Given the description of an element on the screen output the (x, y) to click on. 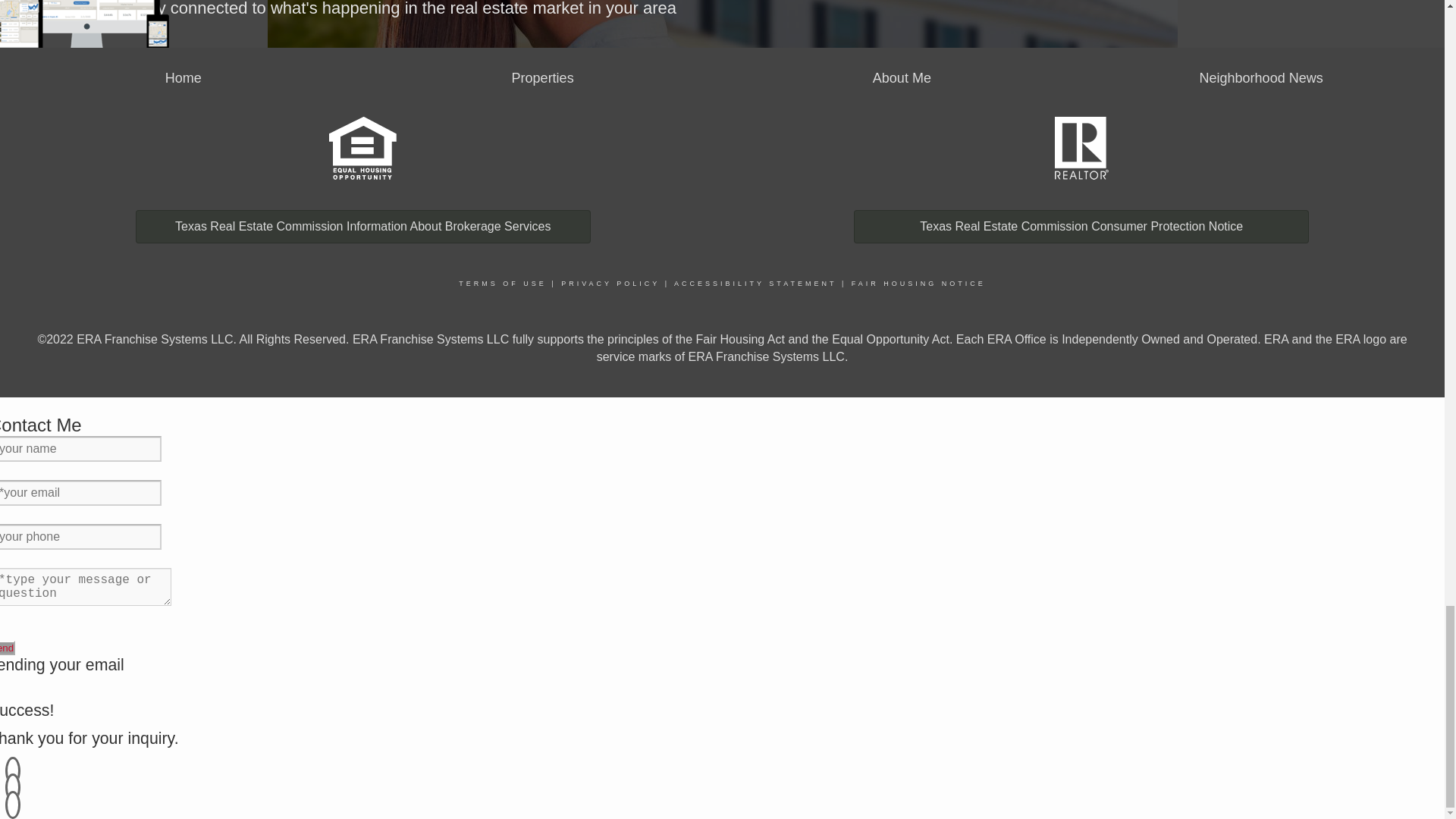
FAIR HOUSING NOTICE (918, 283)
Home (183, 77)
Neighborhood News (1261, 77)
Properties (542, 77)
Send (7, 647)
About Me (901, 77)
TERMS OF USE (502, 283)
eho-89x83.png (362, 148)
PRIVACY POLICY (609, 283)
About Me (901, 77)
Neighborhood News (1261, 77)
Properties (542, 77)
Home (183, 77)
Texas Real Estate Commission Consumer Protection Notice (1080, 226)
